Given the description of an element on the screen output the (x, y) to click on. 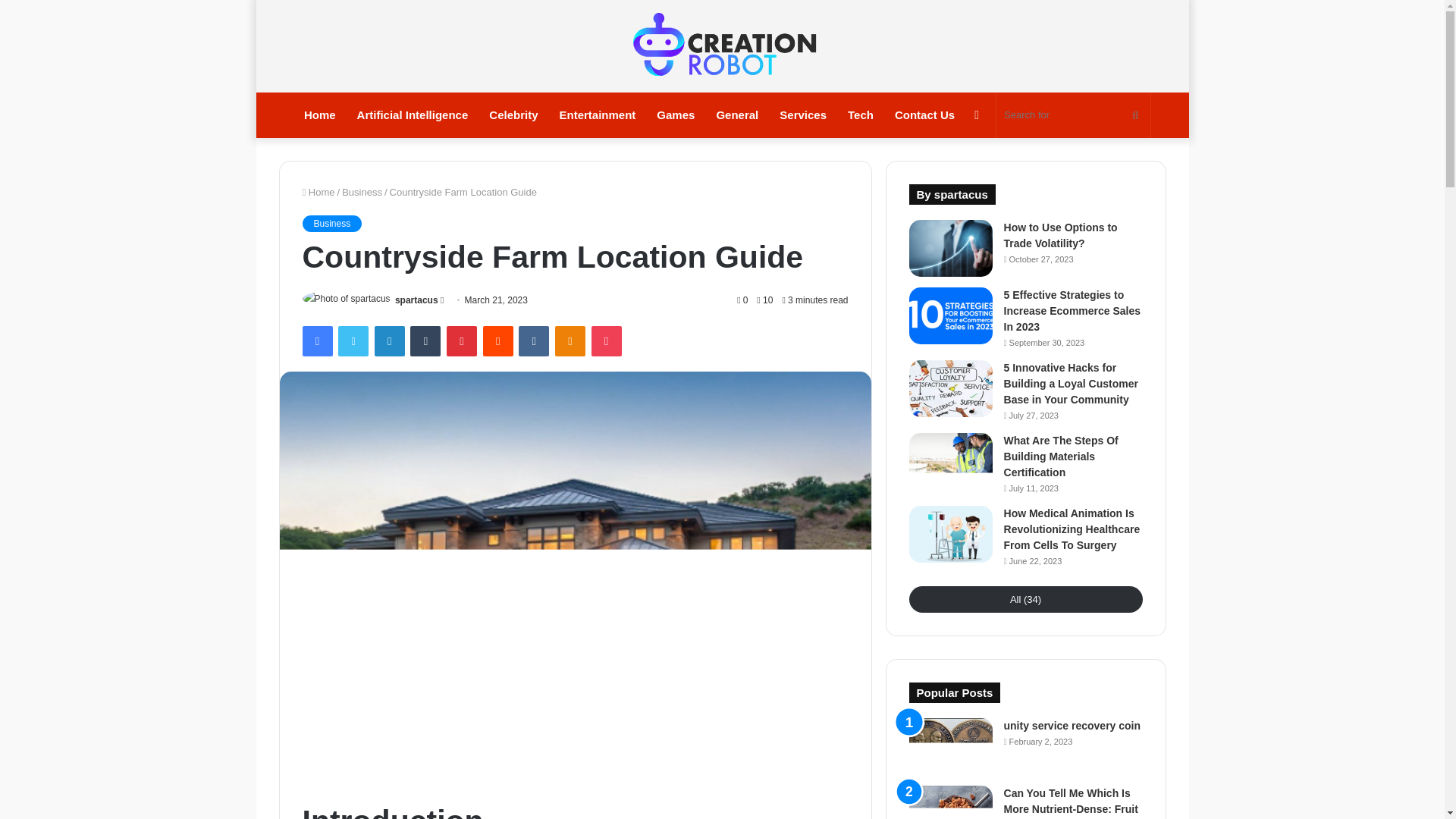
Tech (860, 115)
Home (320, 115)
VKontakte (533, 340)
Entertainment (597, 115)
Pocket (606, 340)
Odnoklassniki (569, 340)
Twitter (352, 340)
Tumblr (425, 340)
Business (331, 223)
LinkedIn (389, 340)
